Given the description of an element on the screen output the (x, y) to click on. 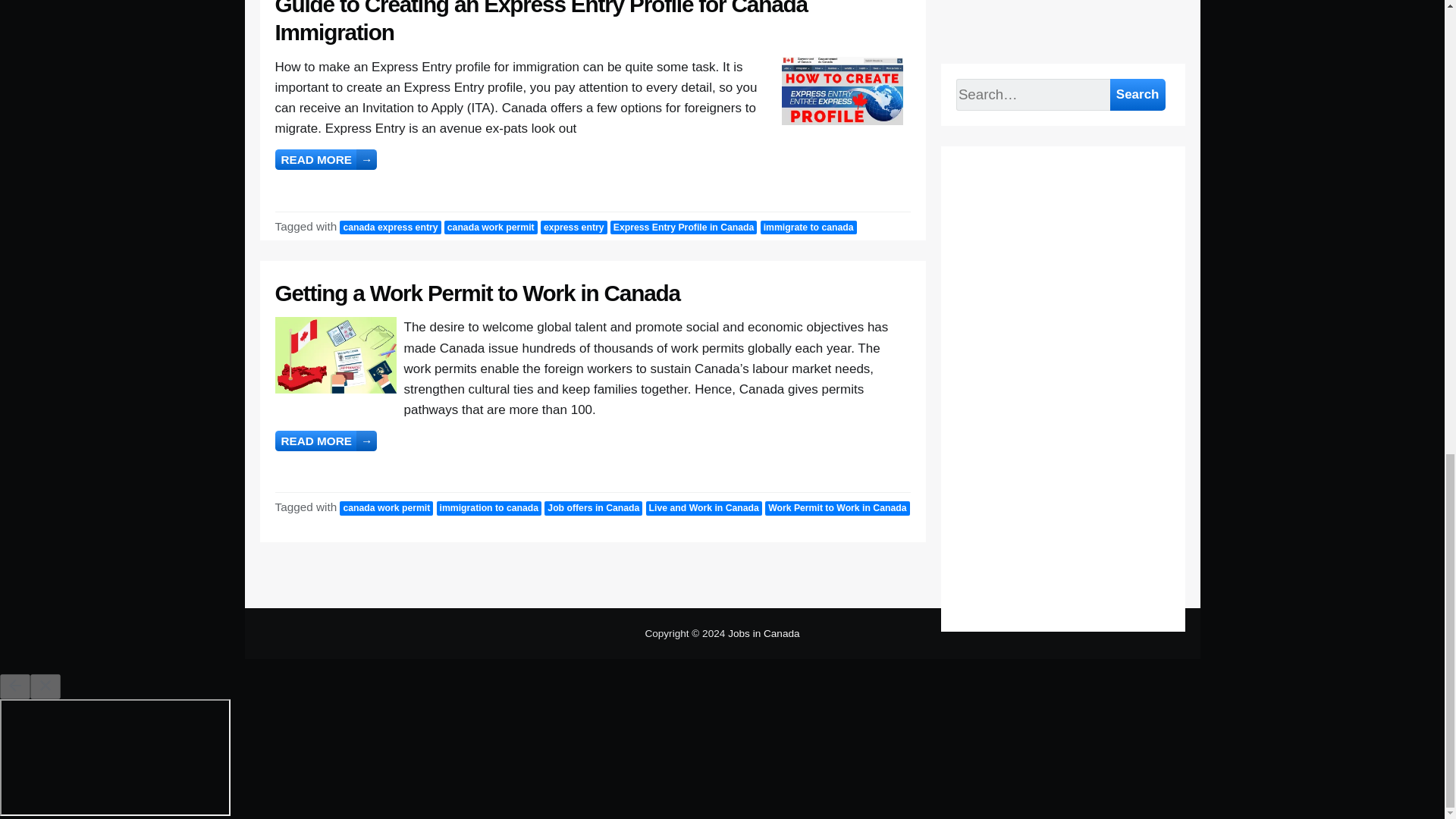
Express Entry Profile in Canada (683, 227)
canada work permit (490, 227)
Getting a Work Permit to Work in Canada (477, 292)
canada express entry (390, 227)
express entry (573, 227)
immigrate to canada (808, 227)
